Given the description of an element on the screen output the (x, y) to click on. 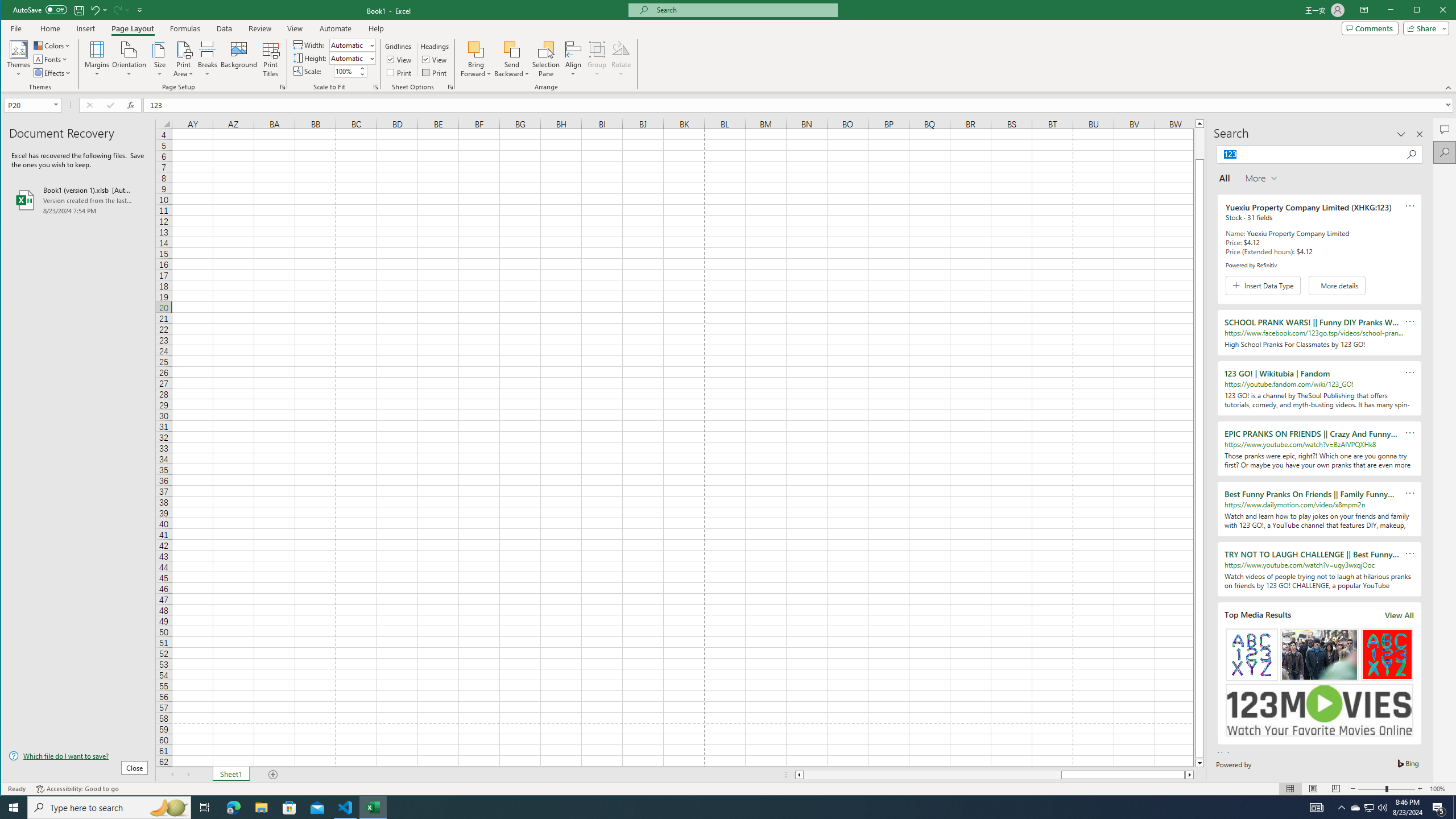
Start (13, 807)
Print (434, 72)
User Promoted Notification Area (1368, 807)
Send Backward (512, 59)
Maximize (1432, 11)
File Explorer (261, 807)
